Given the description of an element on the screen output the (x, y) to click on. 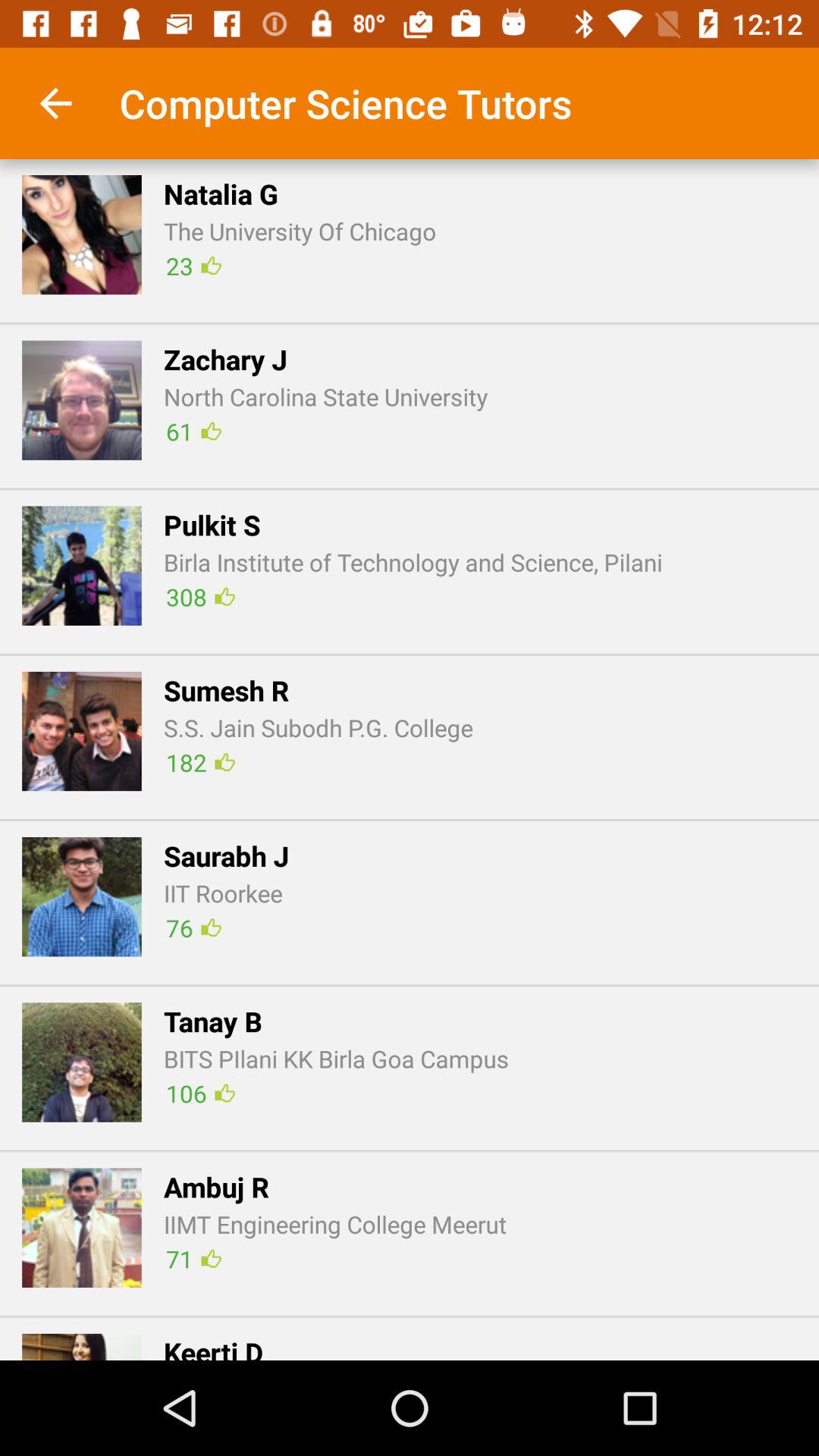
turn off icon next to the z icon (193, 431)
